Given the description of an element on the screen output the (x, y) to click on. 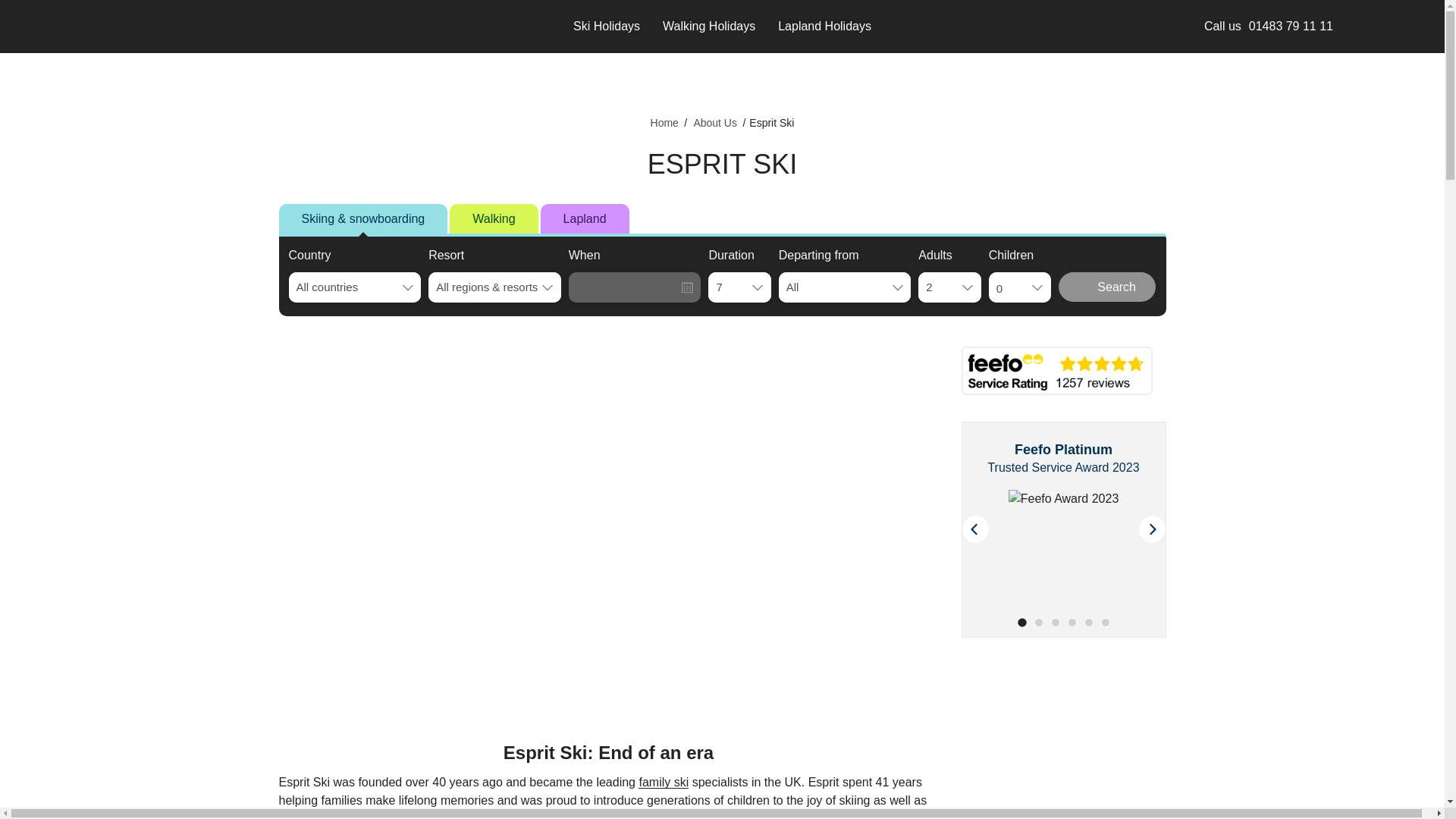
user (1379, 26)
Ski Holidays (606, 27)
open (1346, 26)
search (1417, 26)
Inghams (84, 26)
